Given the description of an element on the screen output the (x, y) to click on. 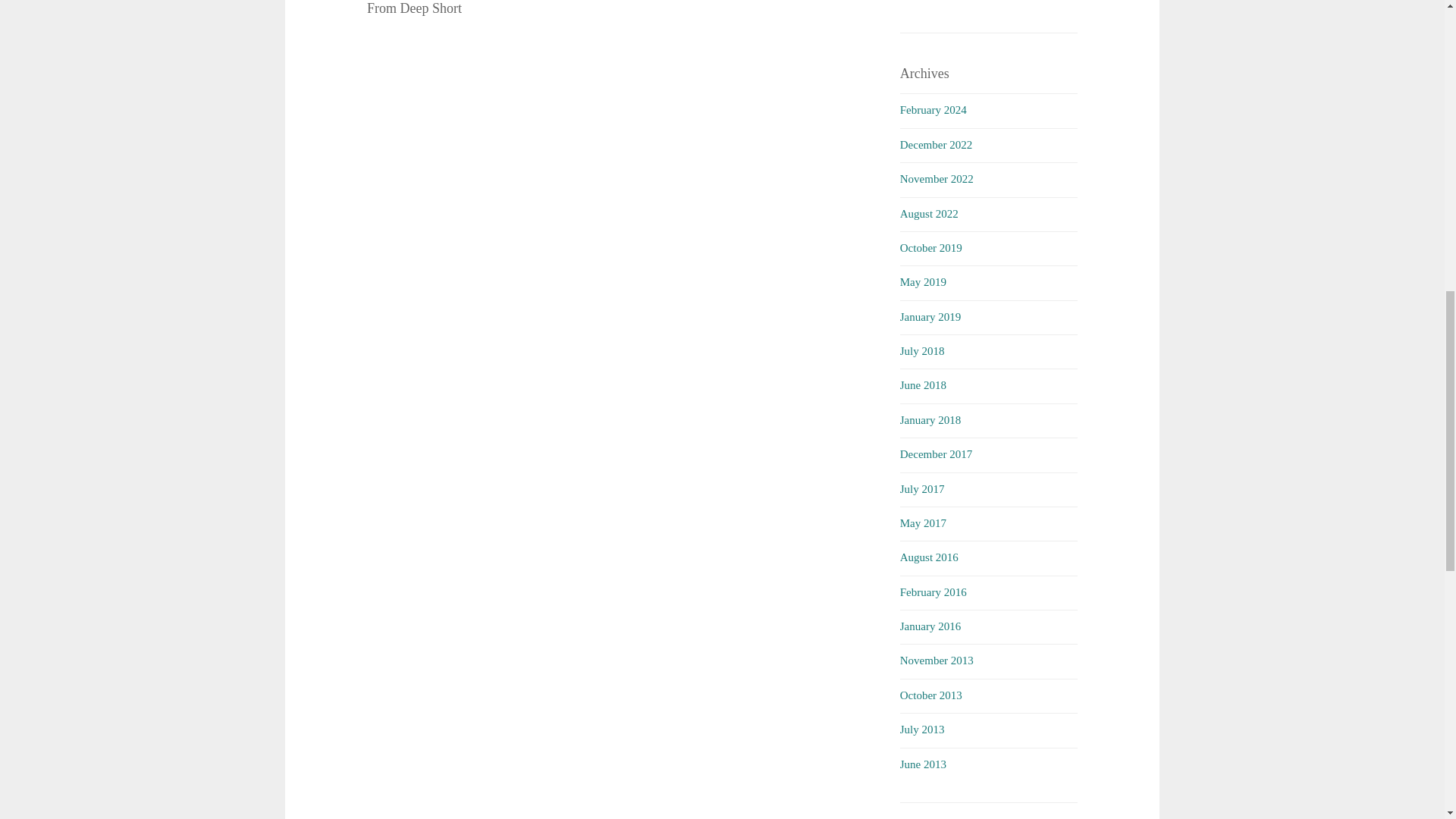
July 2018 (921, 350)
October 2019 (930, 247)
December 2017 (935, 453)
August 2016 (928, 557)
May 2019 (922, 282)
June 2018 (922, 385)
January 2016 (929, 625)
February 2024 (932, 110)
November 2022 (936, 178)
December 2022 (935, 144)
May 2017 (922, 522)
February 2016 (932, 592)
October 2013 (930, 695)
November 2013 (936, 660)
